Given the description of an element on the screen output the (x, y) to click on. 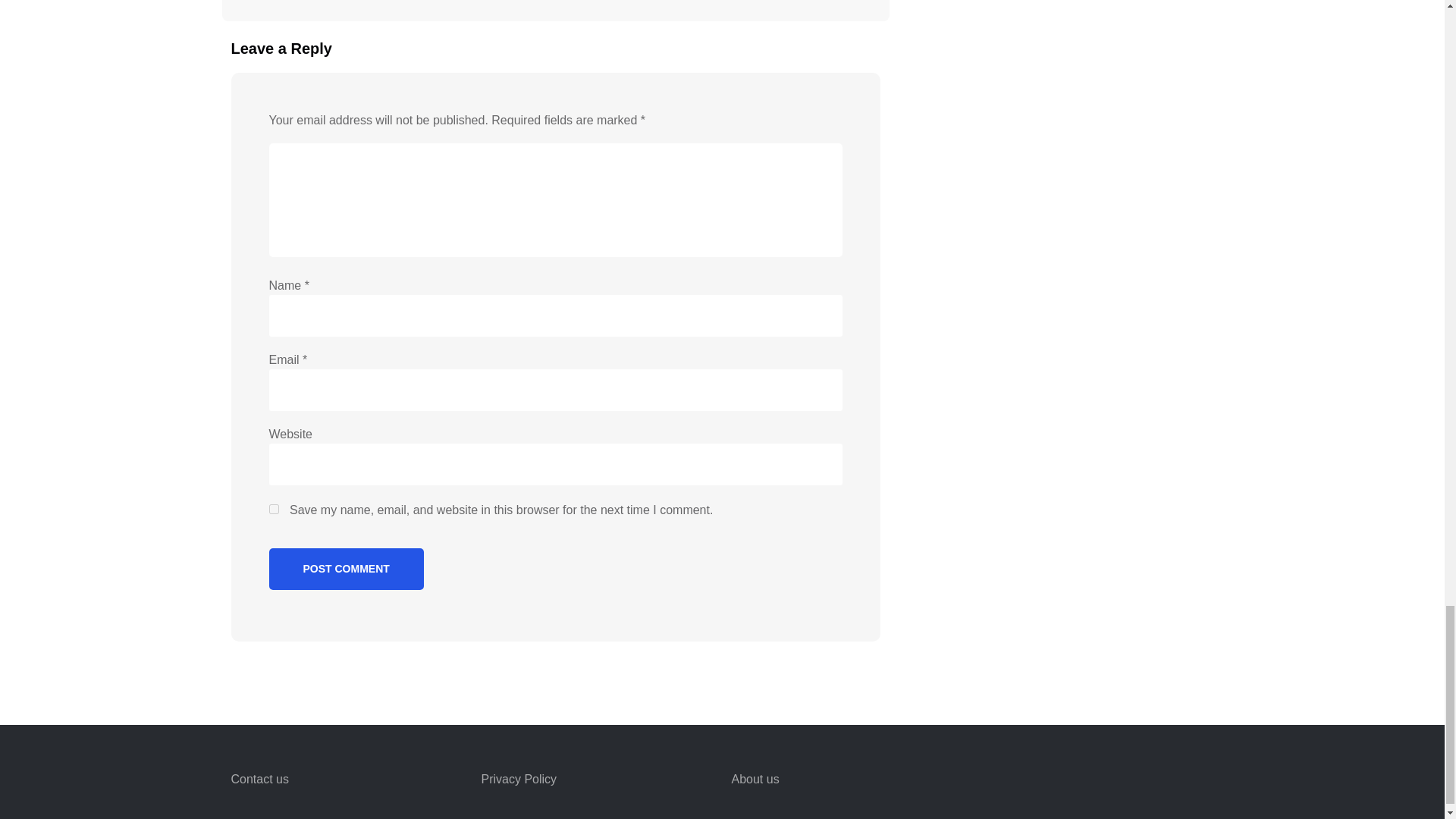
yes (272, 509)
Post Comment (345, 568)
About us (754, 779)
Post Comment (345, 568)
Privacy Policy (518, 779)
Contact us (259, 779)
About us (754, 779)
Contact us (259, 779)
Privacy Policy (518, 779)
